Given the description of an element on the screen output the (x, y) to click on. 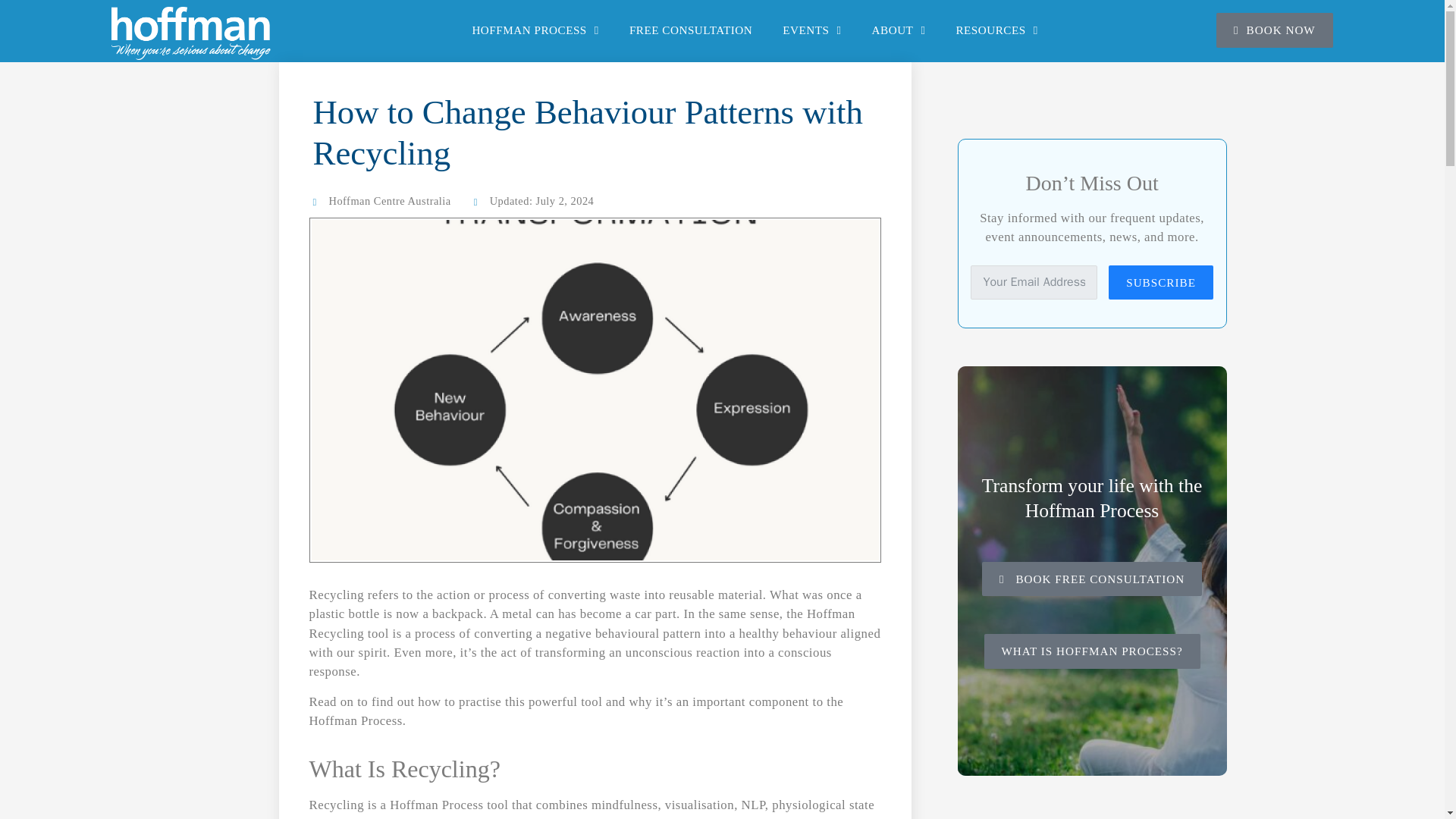
HOFFMAN PROCESS (534, 30)
ABOUT (899, 30)
FREE CONSULTATION (690, 30)
EVENTS (812, 30)
RESOURCES (995, 30)
